Given the description of an element on the screen output the (x, y) to click on. 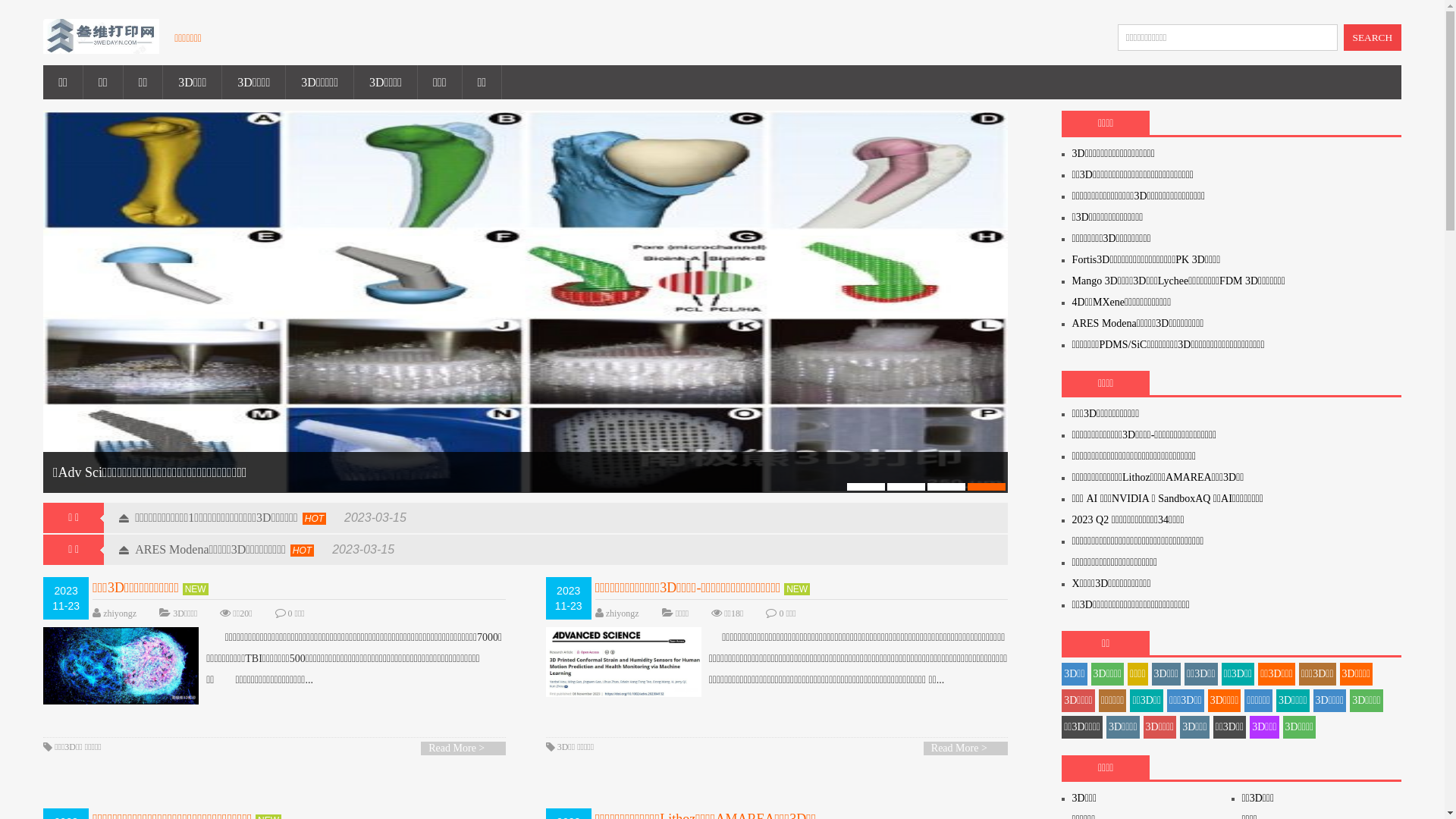
SEARCH Element type: text (1372, 37)
Read More > Element type: text (965, 748)
zhiyongz Element type: text (622, 613)
zhiyongz Element type: text (119, 613)
Read More > Element type: text (462, 748)
